Given the description of an element on the screen output the (x, y) to click on. 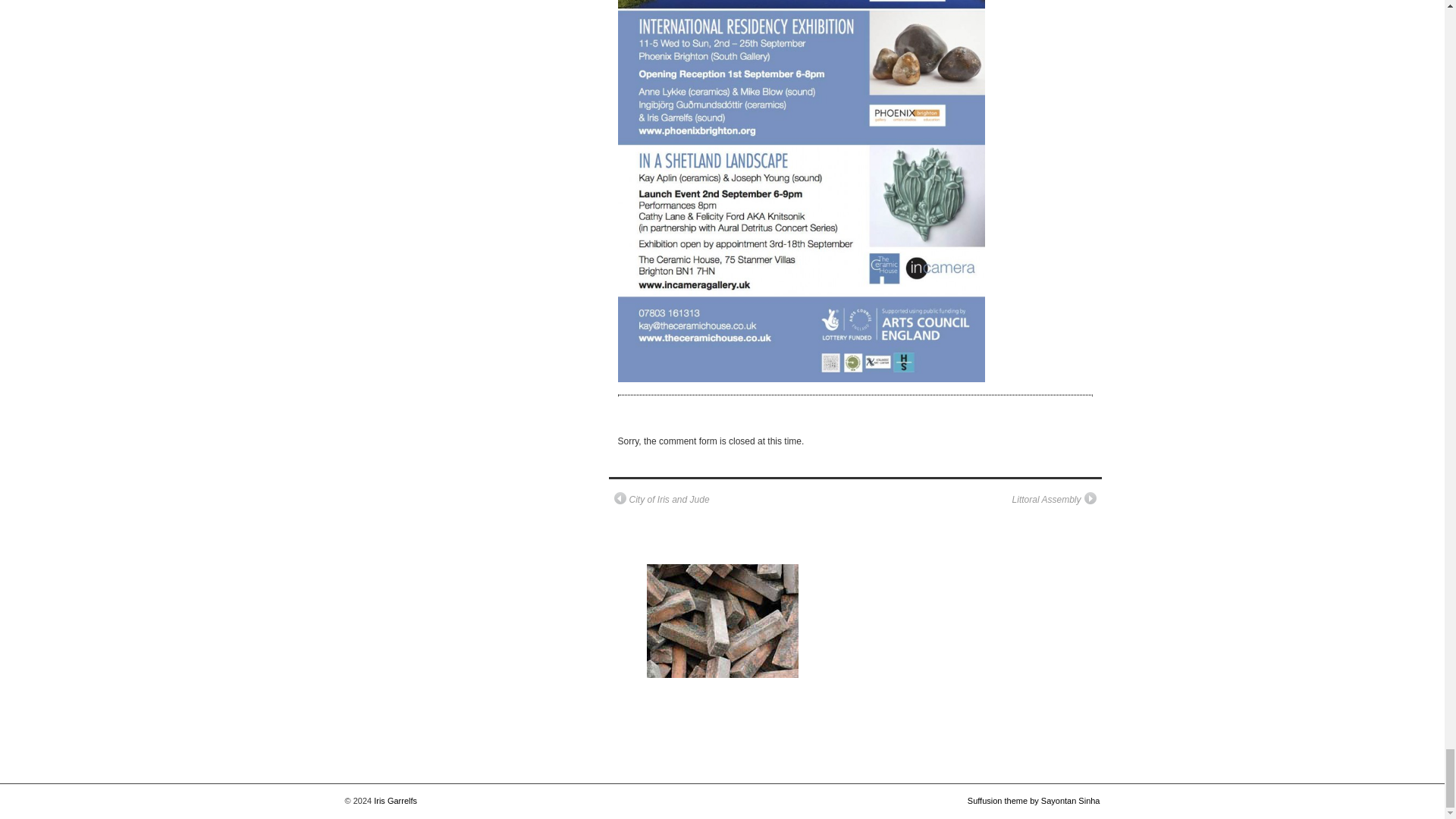
  City of Iris and Jude (662, 500)
  Littoral Assembly (1053, 500)
